Given the description of an element on the screen output the (x, y) to click on. 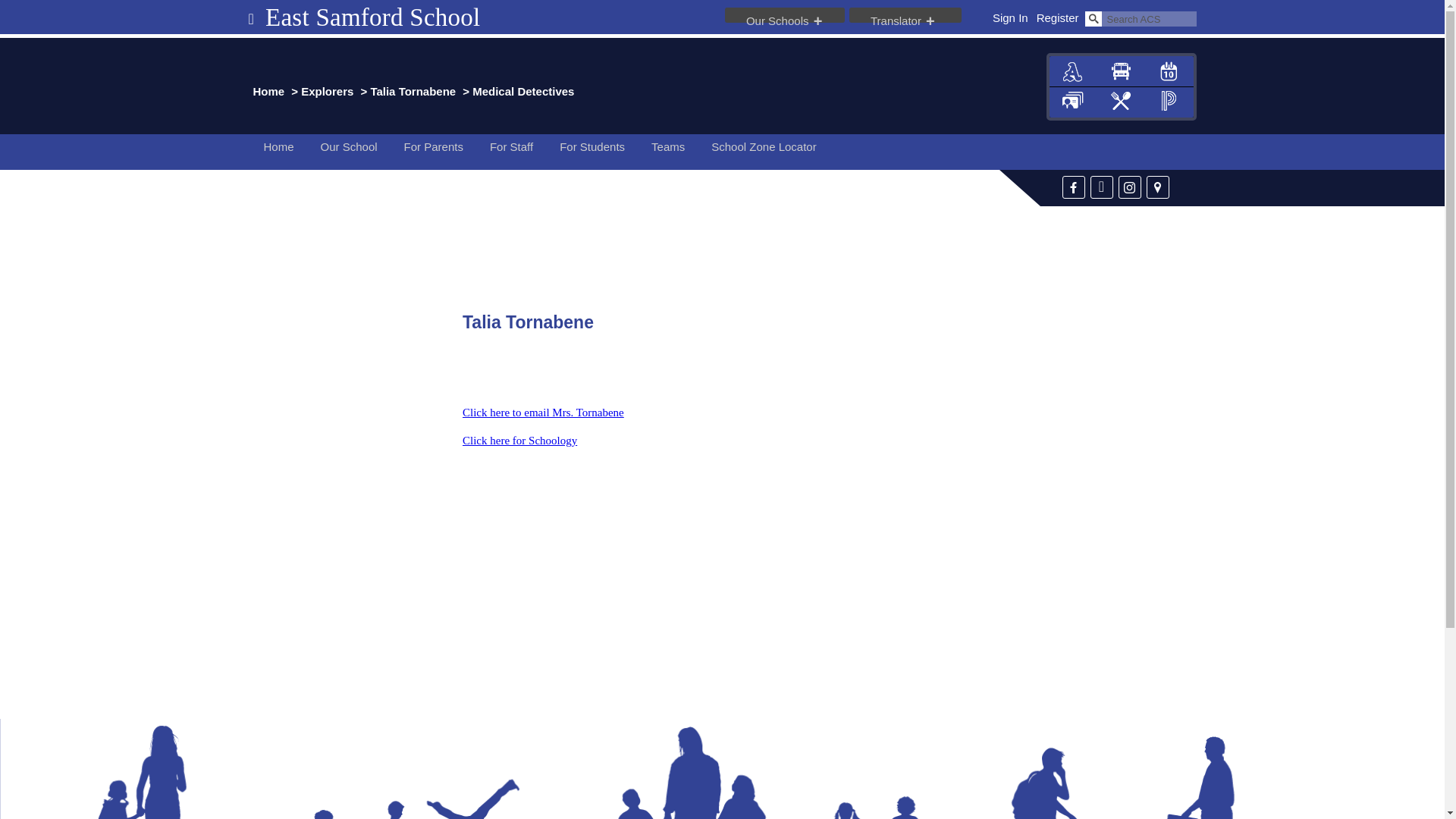
East Samford School (364, 17)
Search Term (1147, 18)
Search ACS (1147, 18)
Sign In (1009, 17)
Search (1092, 18)
Register (1057, 17)
